Given the description of an element on the screen output the (x, y) to click on. 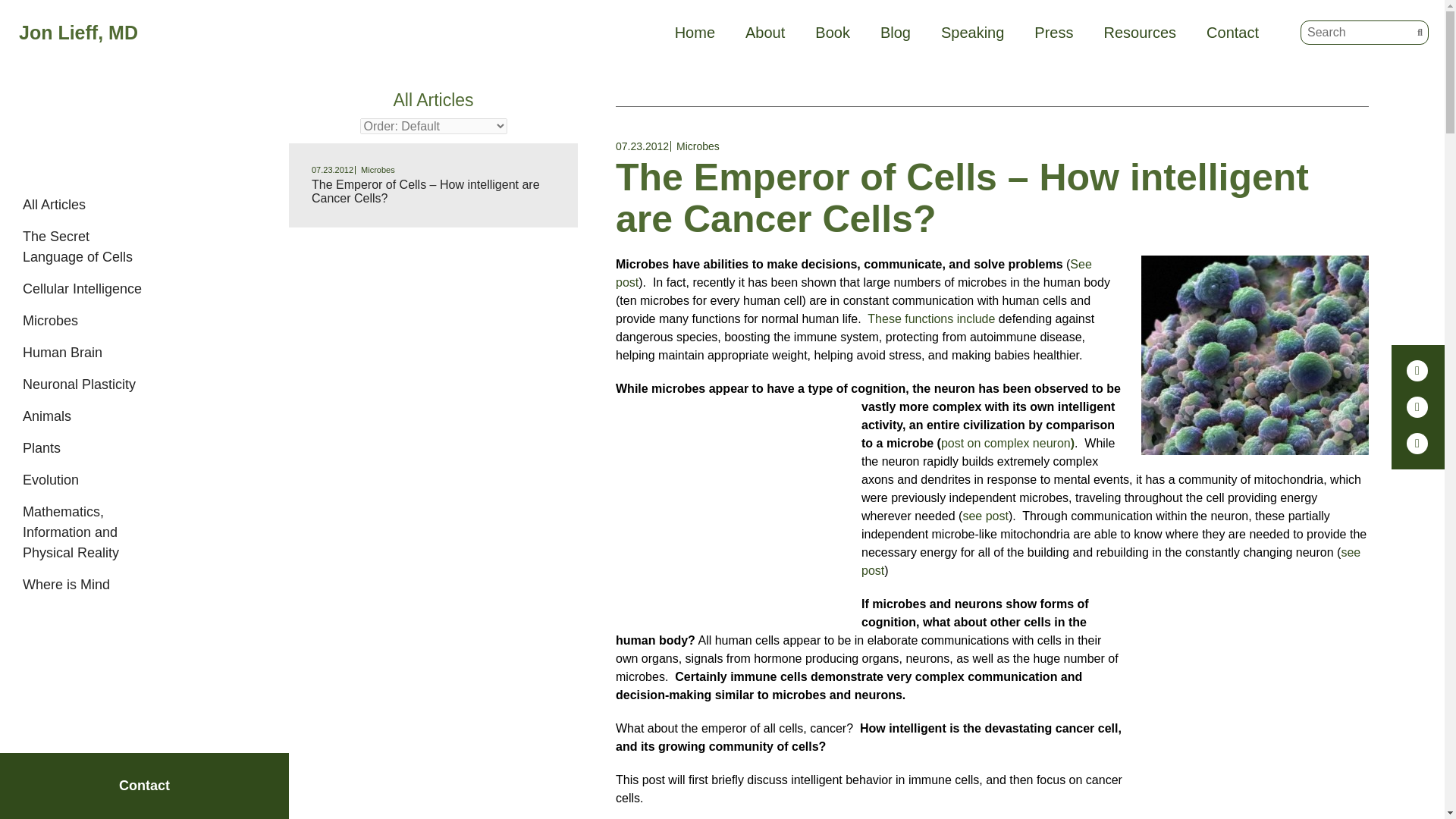
Resources (1139, 32)
About (764, 32)
see post (984, 515)
Book (832, 32)
Jon Lieff, MD (158, 32)
B0006629 Prostate cancer cells (1254, 355)
Home (694, 32)
About (764, 32)
Speaking (972, 32)
Press (1053, 32)
See post (853, 273)
Press (1053, 32)
Speaking (972, 32)
Contact (1233, 32)
